Given the description of an element on the screen output the (x, y) to click on. 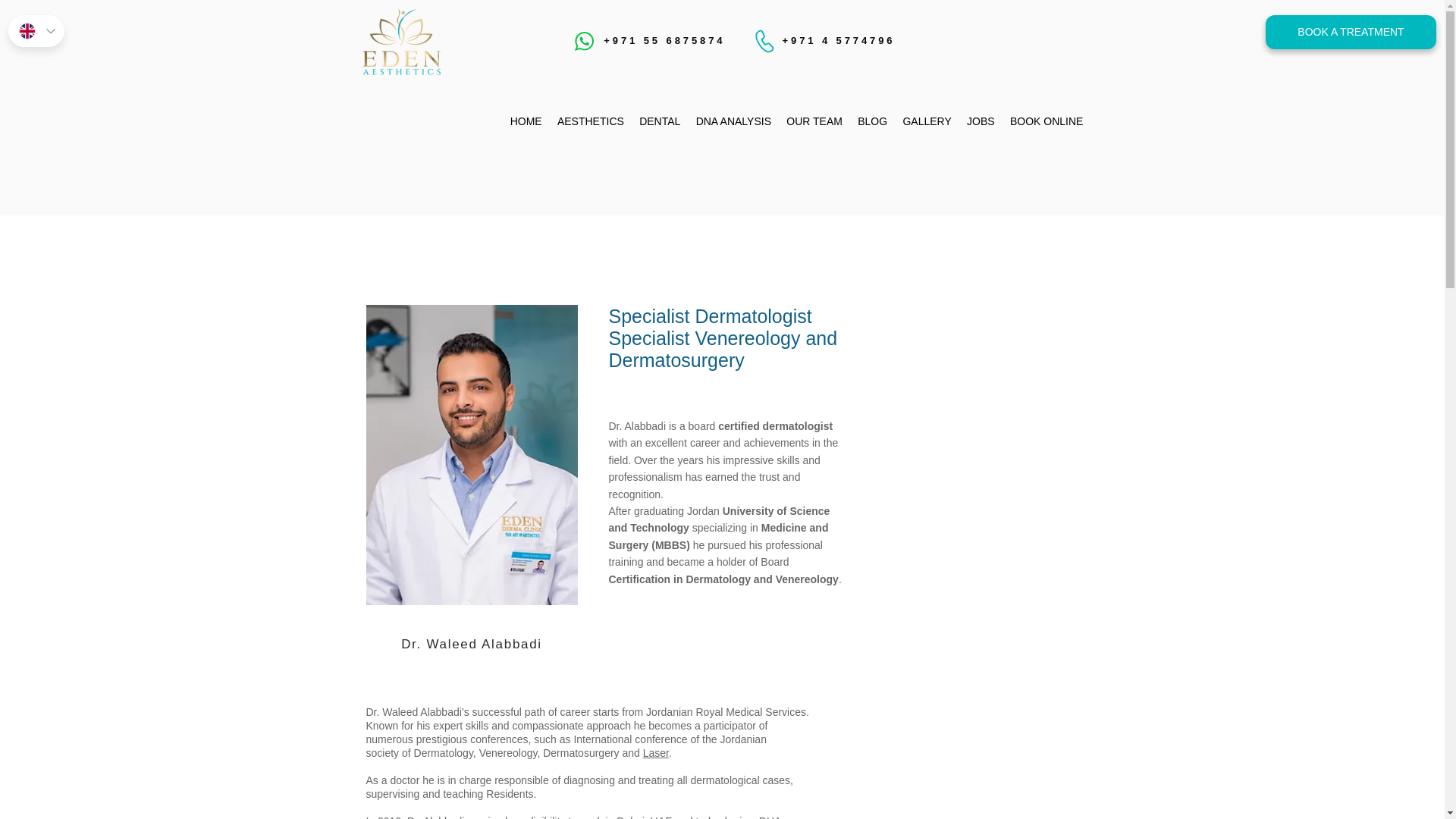
BOOK A TREATMENT (1350, 32)
HOME (525, 121)
AESTHETICS (590, 121)
DENTAL (659, 121)
